Given the description of an element on the screen output the (x, y) to click on. 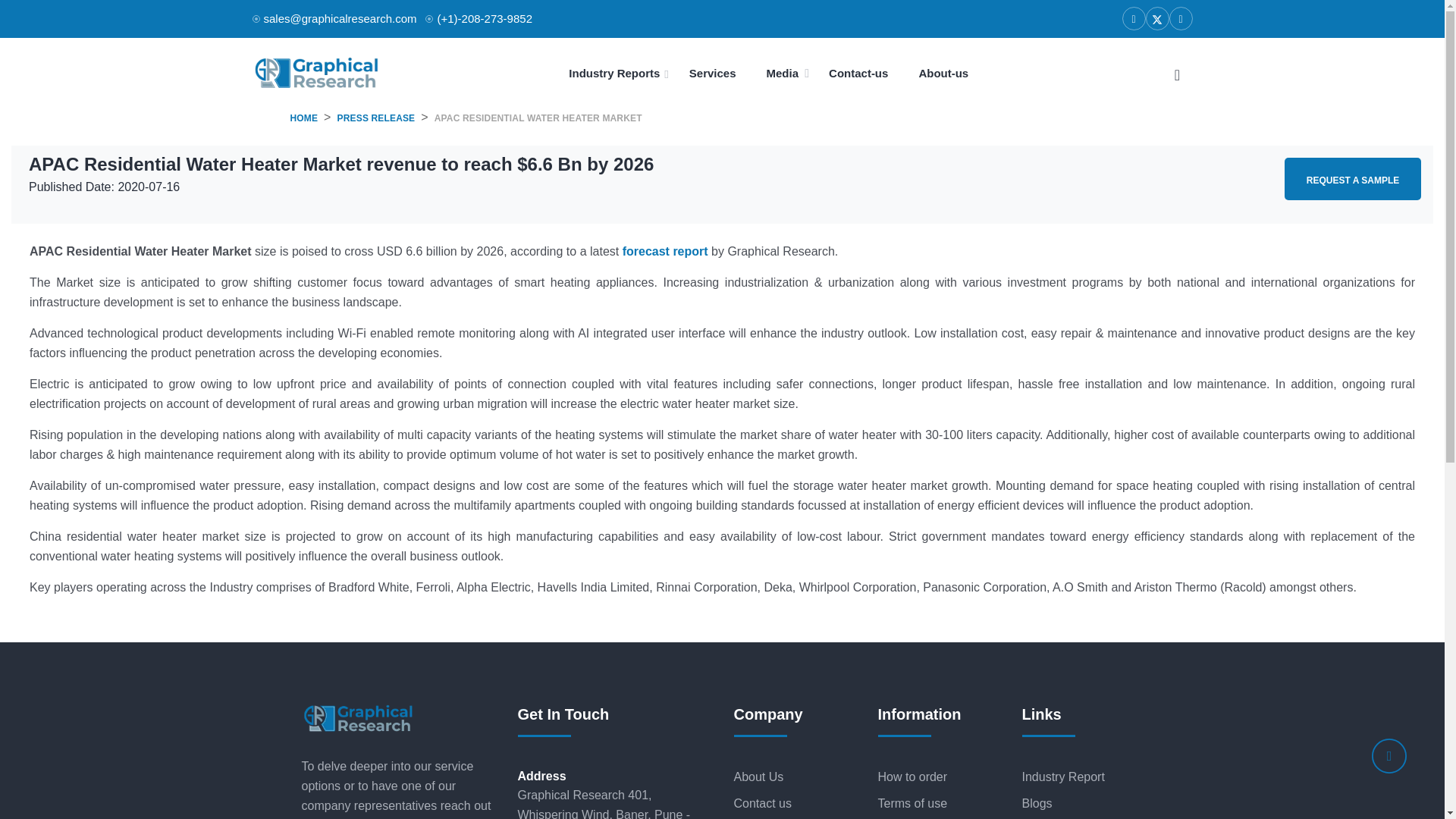
Services (712, 72)
forecast report (665, 250)
Industry Reports (618, 72)
HOME (303, 118)
Blogs (1082, 803)
Title (1176, 72)
Terms of use (937, 803)
Contact-us (858, 72)
PRESS RELEASE (375, 118)
About-us (943, 72)
